Given the description of an element on the screen output the (x, y) to click on. 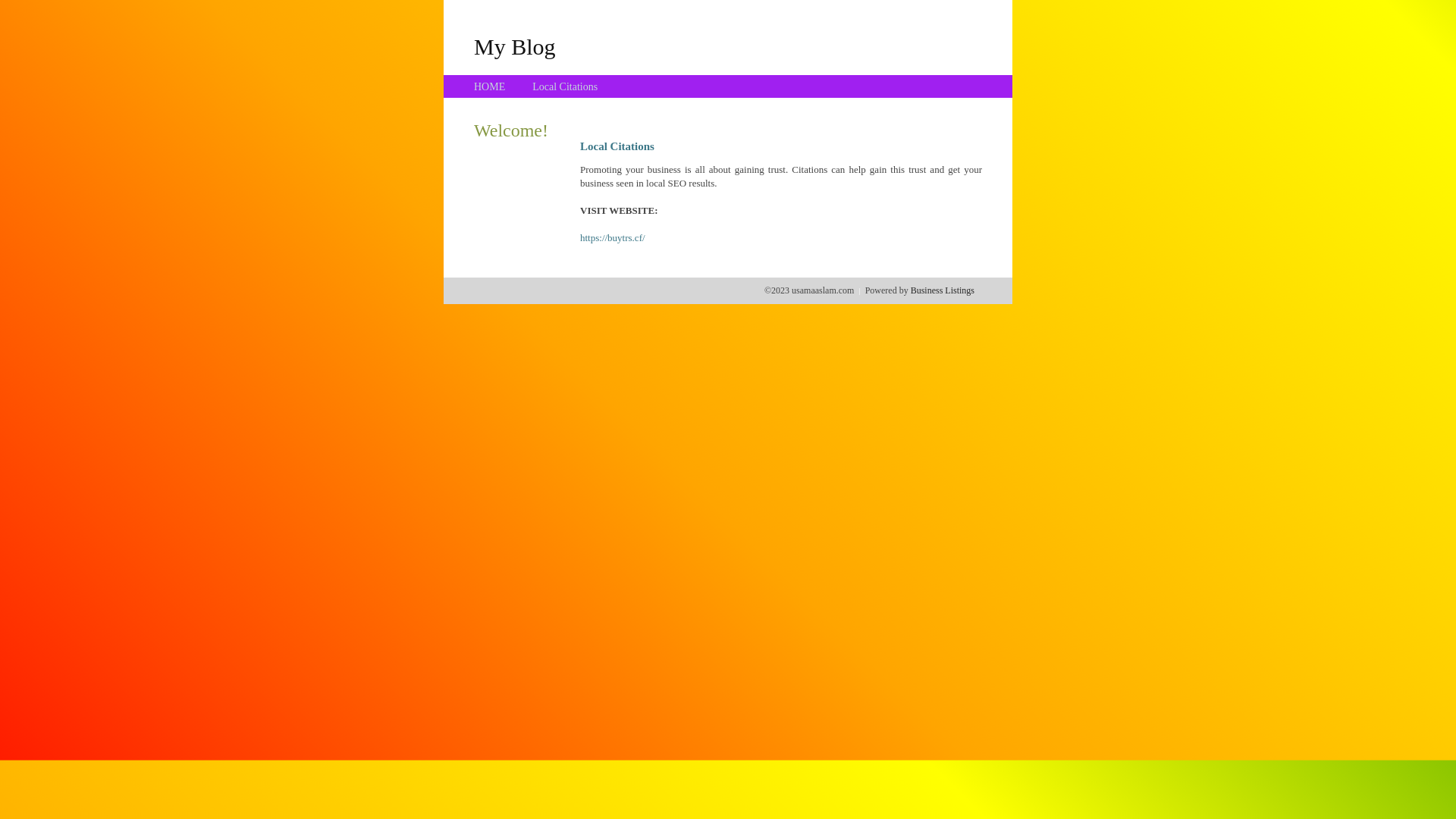
Business Listings Element type: text (942, 290)
https://buytrs.cf/ Element type: text (612, 237)
HOME Element type: text (489, 86)
Local Citations Element type: text (564, 86)
My Blog Element type: text (514, 46)
